Given the description of an element on the screen output the (x, y) to click on. 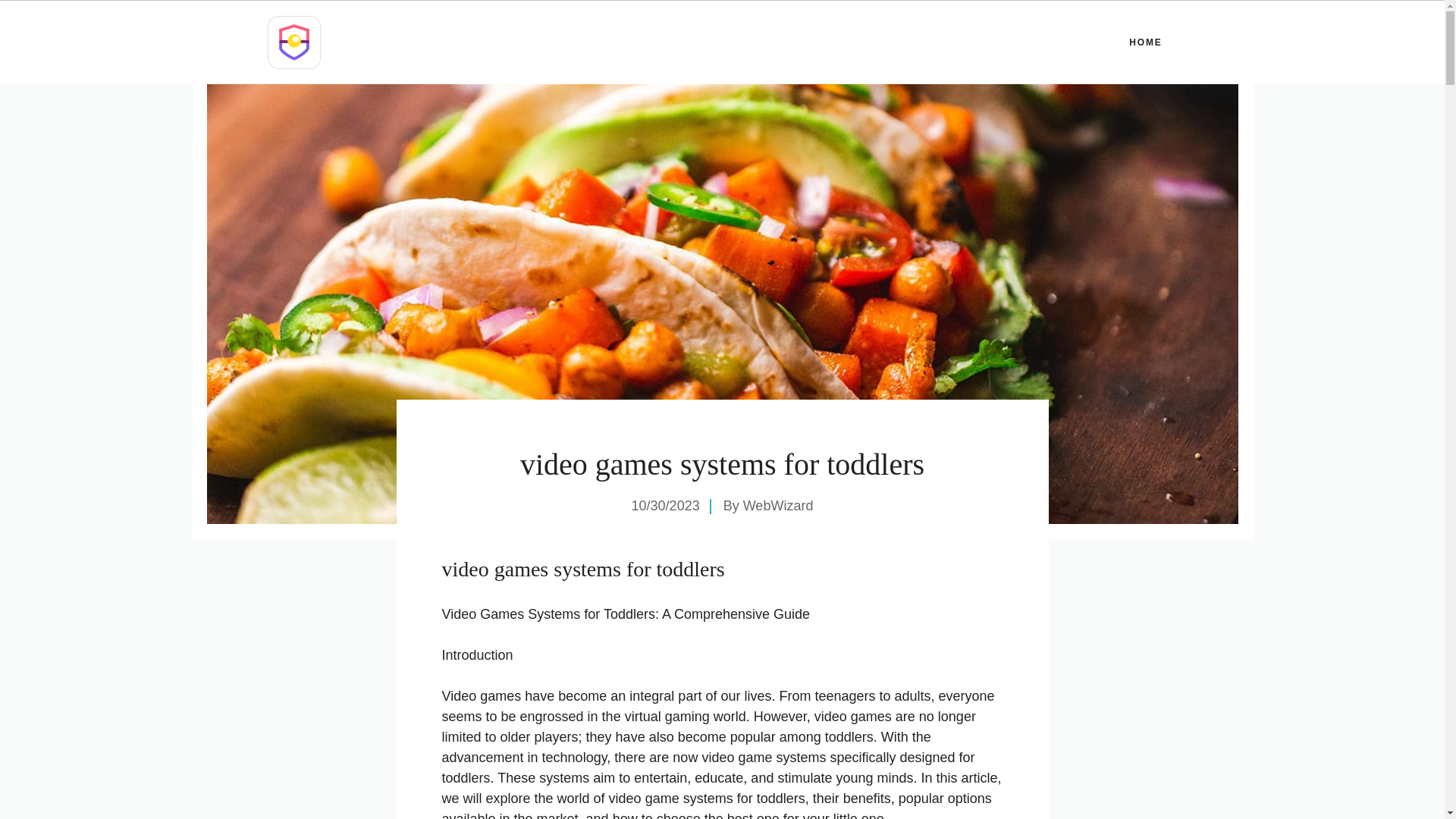
HOME (1144, 42)
WebWizard (777, 505)
